Given the description of an element on the screen output the (x, y) to click on. 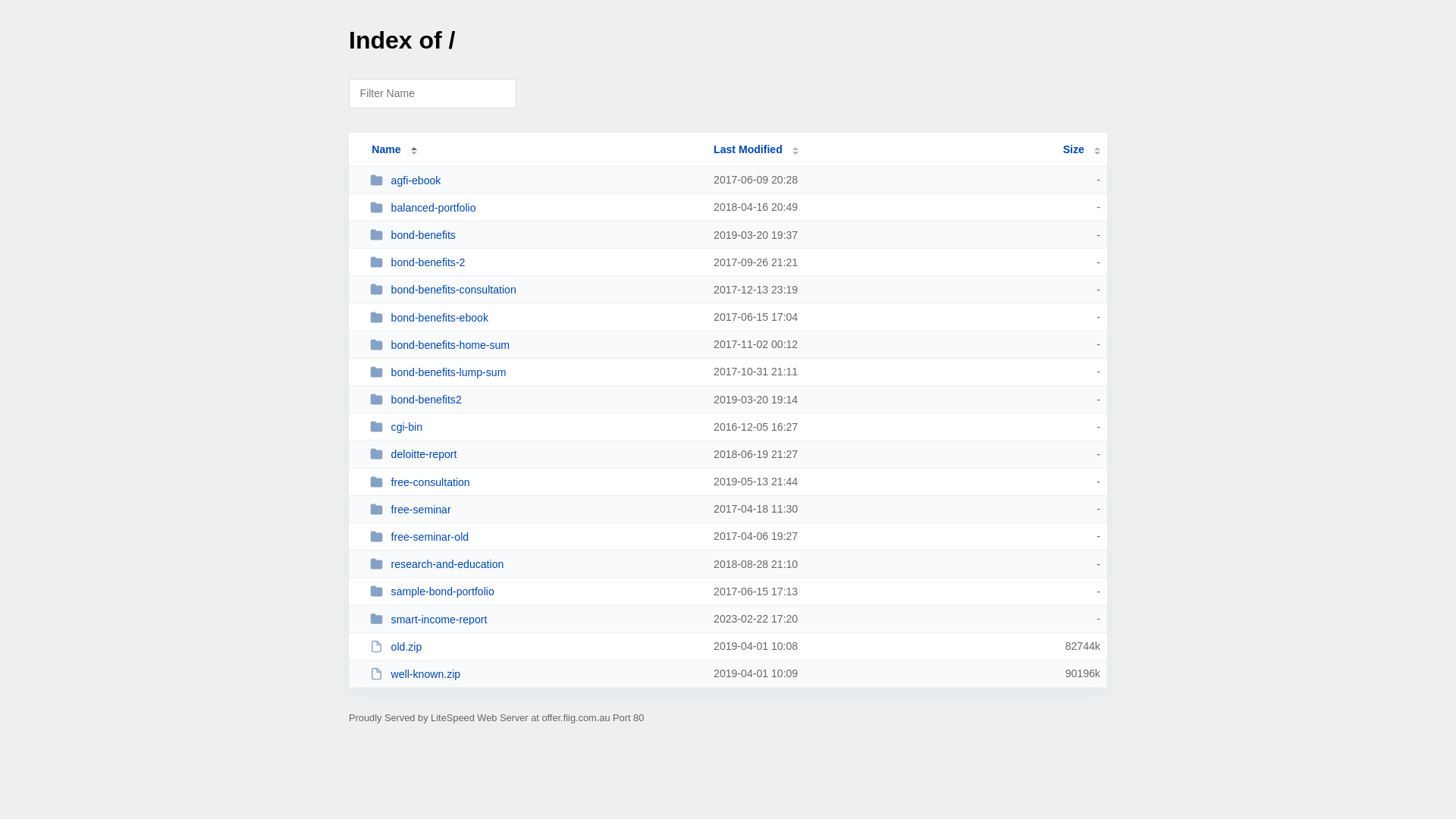
sample-bond-portfolio Element type: text (534, 590)
bond-benefits2 Element type: text (534, 398)
bond-benefits-2 Element type: text (534, 261)
Name Element type: text (385, 149)
Size Element type: text (1081, 149)
research-and-education Element type: text (534, 563)
agfi-ebook Element type: text (534, 179)
bond-benefits-ebook Element type: text (534, 316)
bond-benefits Element type: text (534, 234)
free-consultation Element type: text (534, 481)
bond-benefits-consultation Element type: text (534, 288)
smart-income-report Element type: text (534, 618)
well-known.zip Element type: text (534, 673)
old.zip Element type: text (534, 646)
deloitte-report Element type: text (534, 453)
free-seminar-old Element type: text (534, 536)
bond-benefits-lump-sum Element type: text (534, 371)
balanced-portfolio Element type: text (534, 206)
Last Modified Element type: text (755, 149)
cgi-bin Element type: text (534, 426)
bond-benefits-home-sum Element type: text (534, 344)
free-seminar Element type: text (534, 508)
